Given the description of an element on the screen output the (x, y) to click on. 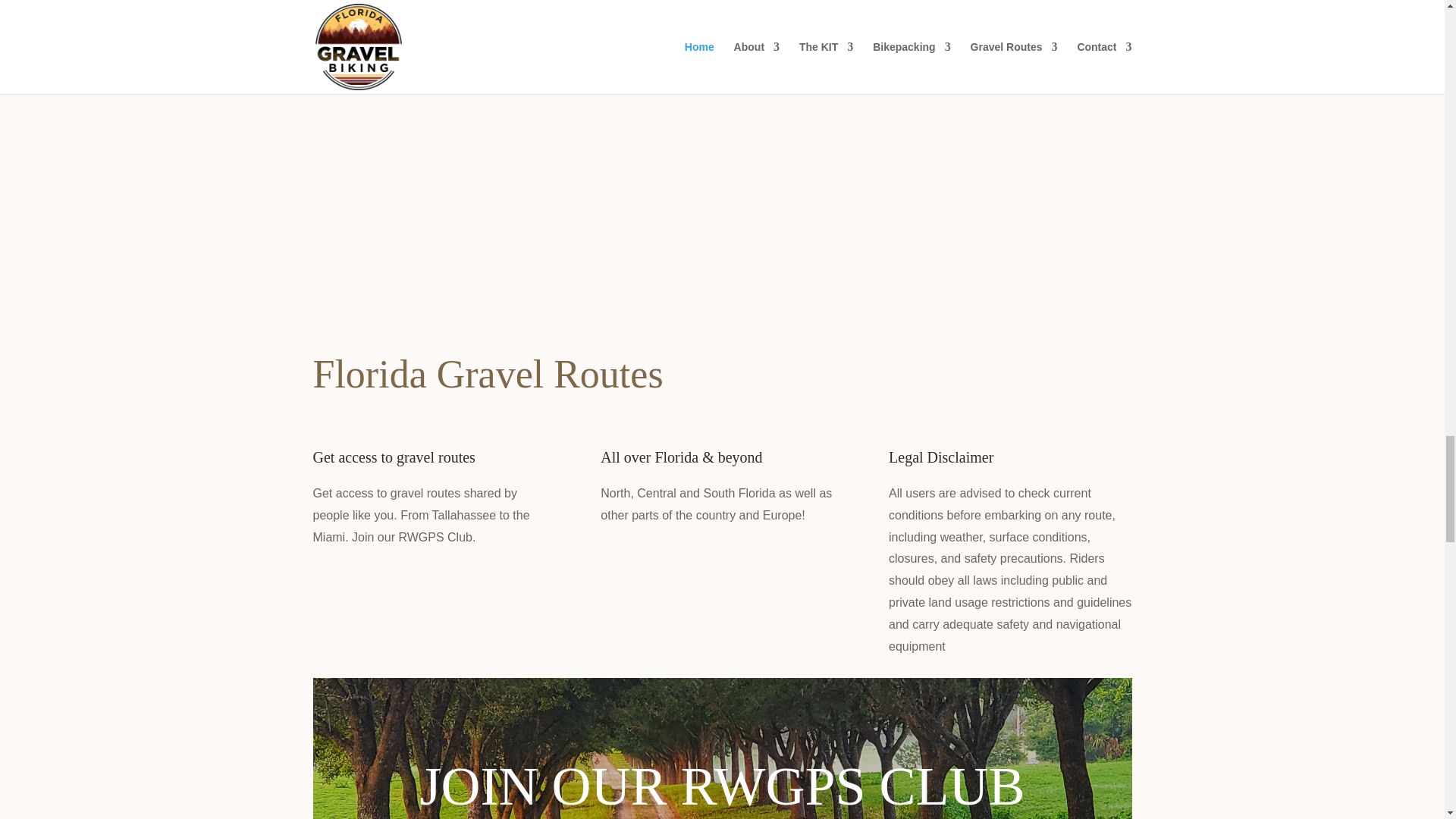
Image00104 (937, 113)
